Given the description of an element on the screen output the (x, y) to click on. 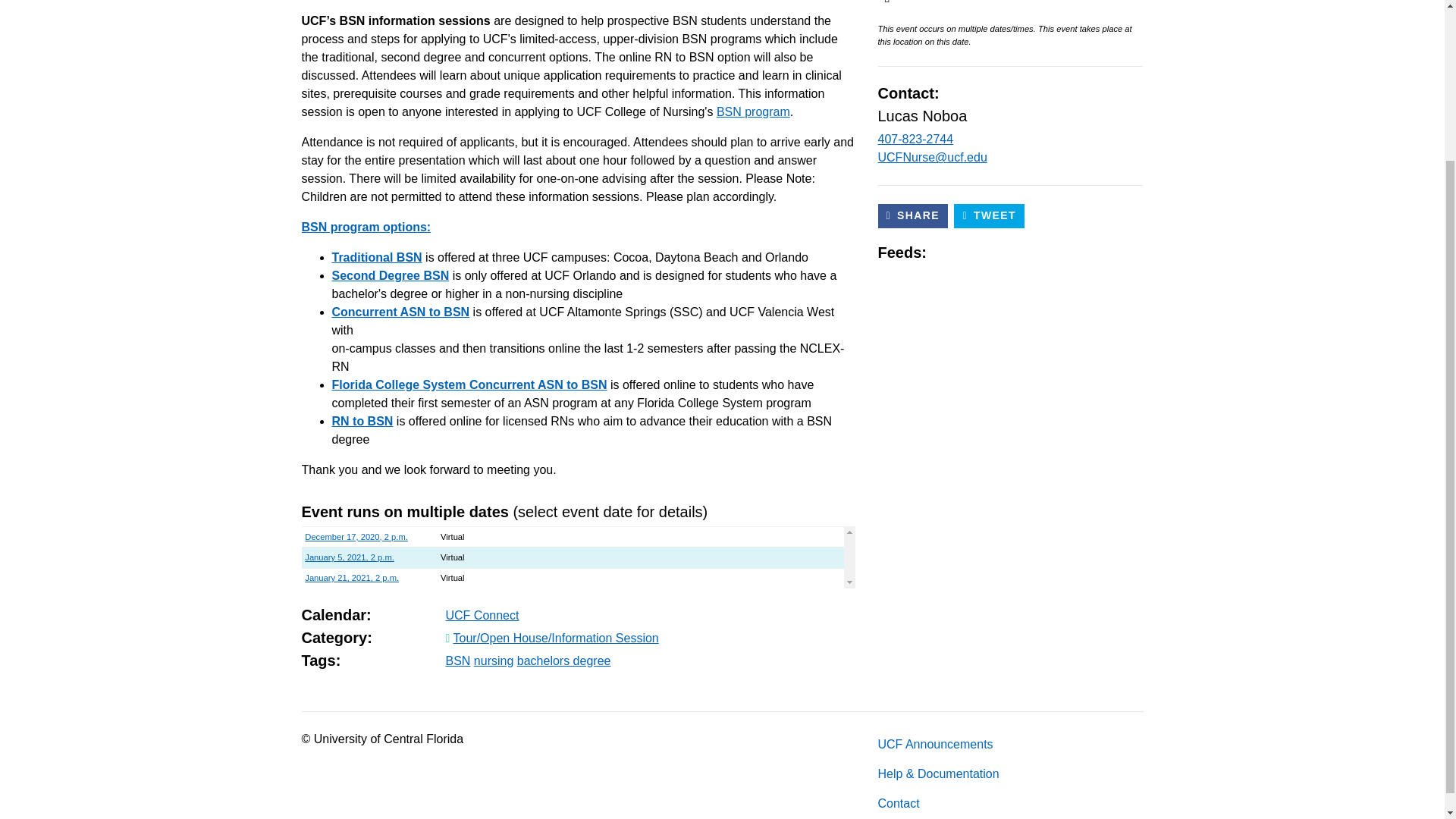
Concurrent ASN to BSN (400, 311)
XML Feed (1022, 252)
January 5, 2021, 2 p.m. (349, 556)
UCF Connect (482, 615)
BSN program options: (365, 226)
Second Degree BSN (390, 275)
December 17, 2020, 2 p.m. (355, 536)
407-823-2744 (915, 138)
JSON Feed (1048, 252)
Share this content on Facebook (913, 215)
TWEET (989, 215)
BSN program (753, 111)
Traditional BSN (376, 256)
BSN (457, 660)
Concurrent ASN to BSN (400, 311)
